Given the description of an element on the screen output the (x, y) to click on. 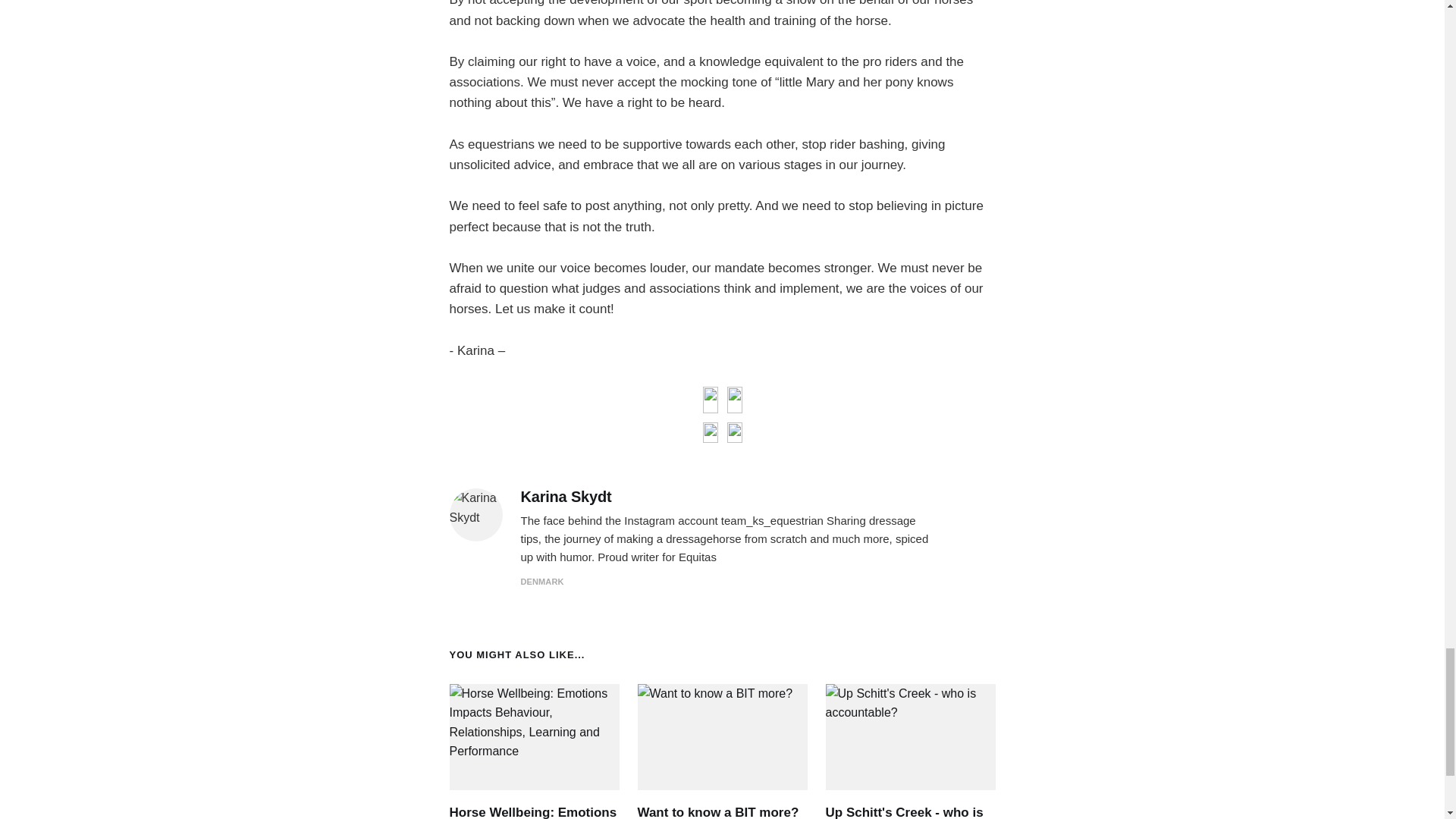
Up Schitt's Creek - who is accountable? (903, 812)
Karina Skydt (565, 497)
Want to know a BIT more? (717, 812)
